Given the description of an element on the screen output the (x, y) to click on. 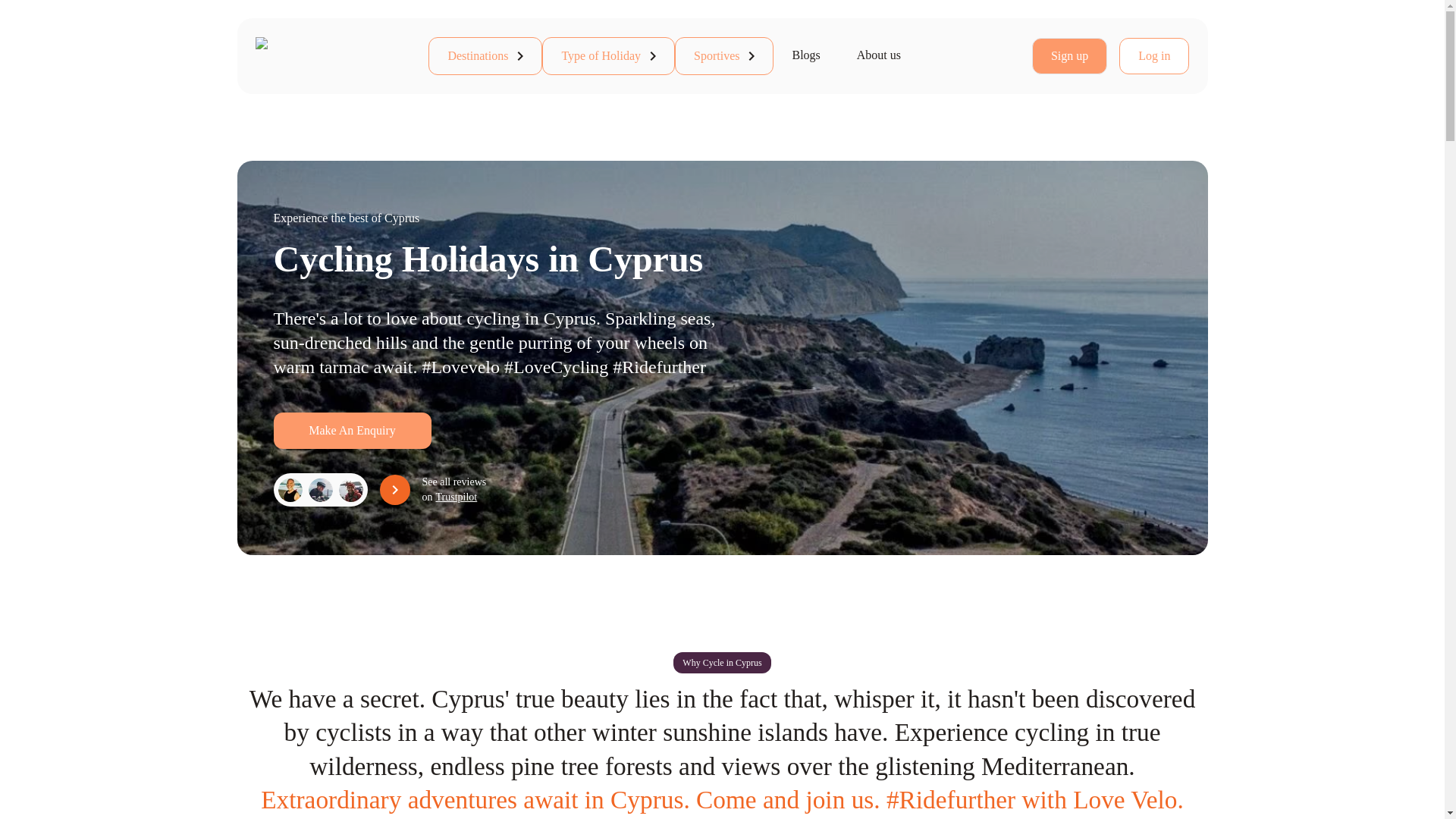
Sign up (1069, 55)
Log in (1154, 55)
Sportives (724, 55)
Make An Enquiry (351, 430)
About us (878, 54)
Trustpilot (456, 496)
Destinations (484, 55)
Blogs (805, 54)
Type of Holiday (608, 55)
